Given the description of an element on the screen output the (x, y) to click on. 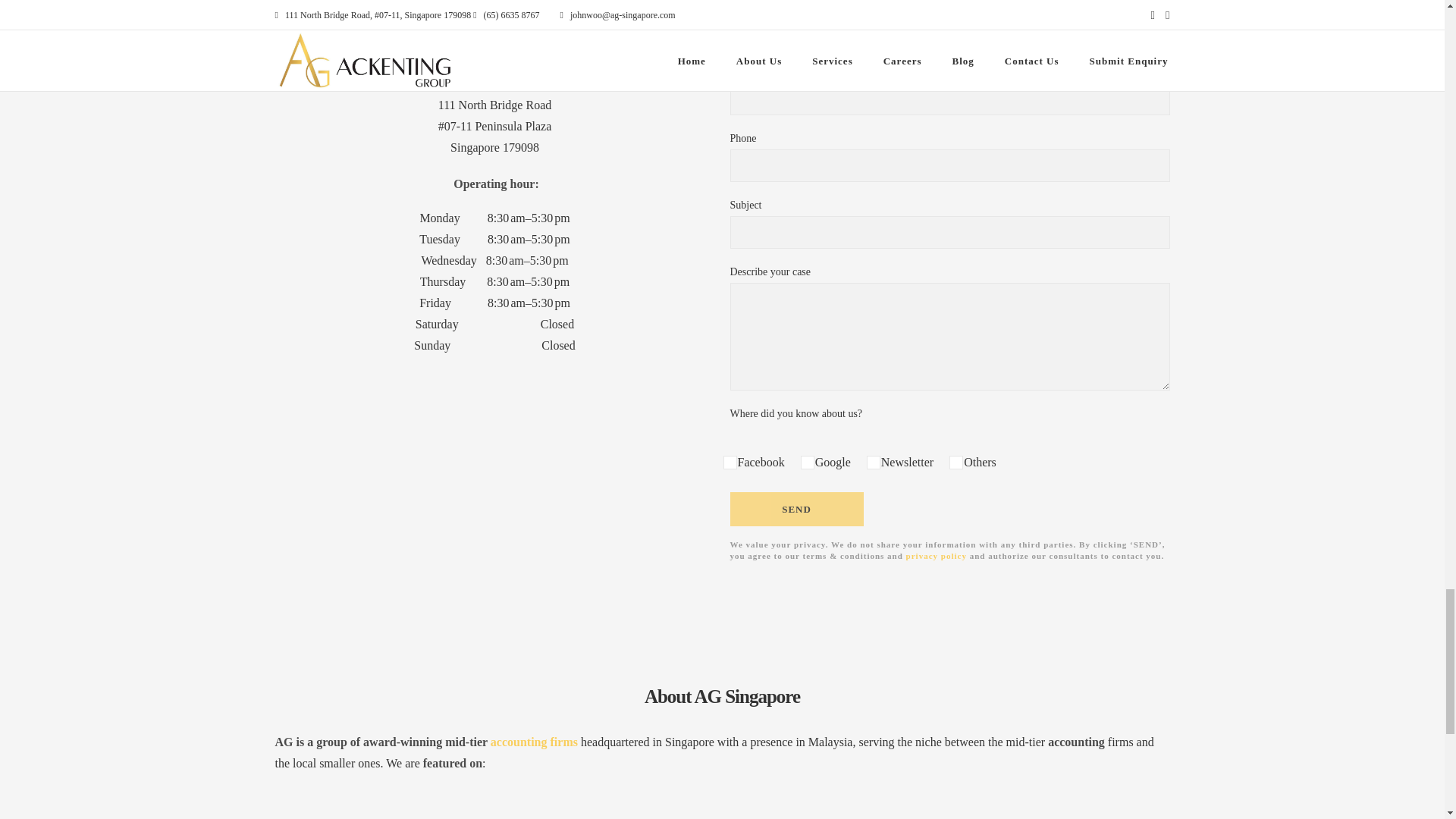
Send (796, 509)
